Given the description of an element on the screen output the (x, y) to click on. 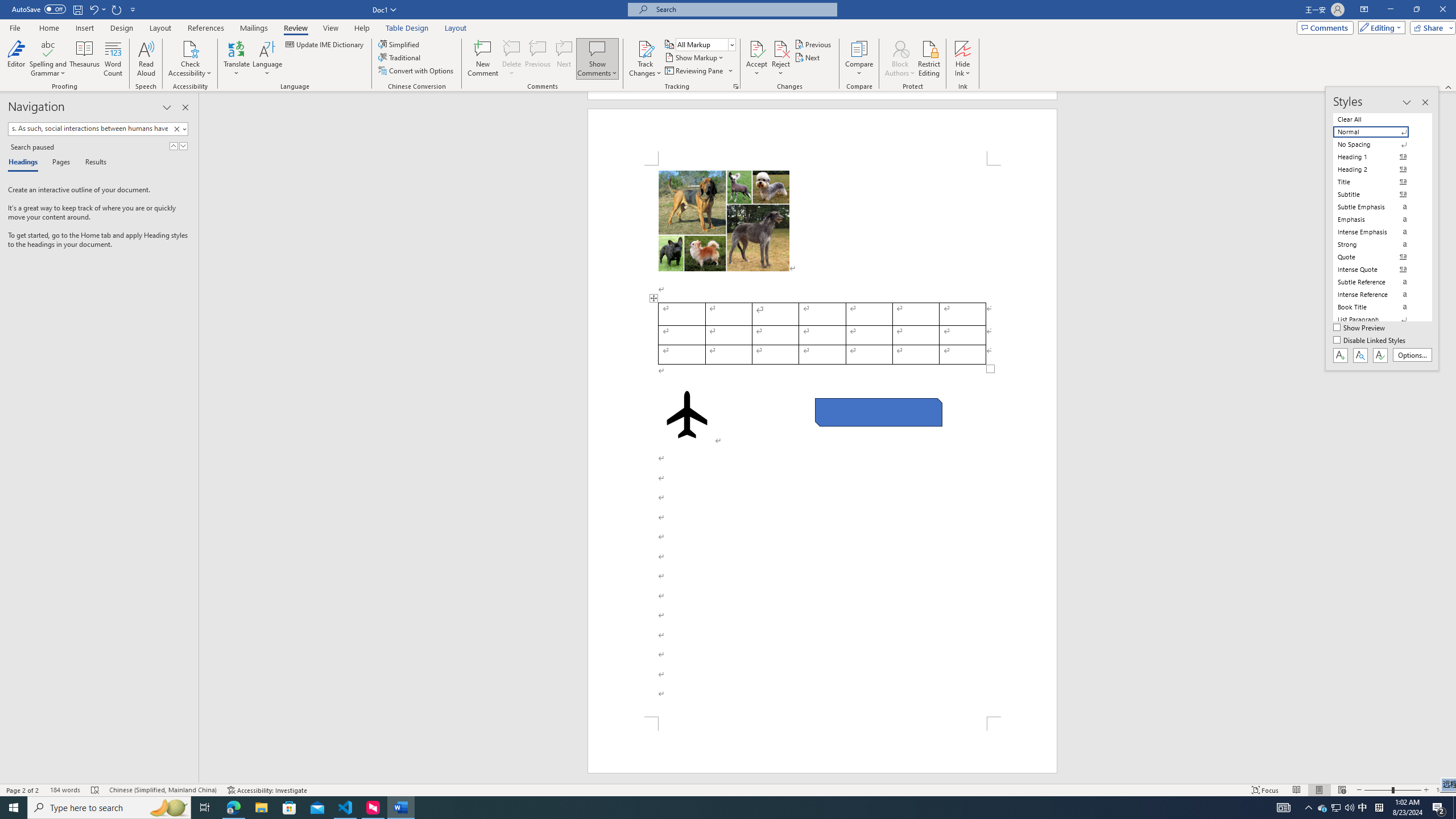
Check Accessibility (189, 48)
Heading 2 (1377, 169)
Hide Ink (962, 58)
Headings (25, 162)
Show Preview (1360, 328)
Clear (178, 128)
Clear All (1377, 119)
Normal (1377, 131)
Intense Reference (1377, 294)
Update IME Dictionary... (324, 44)
Ribbon Display Options (1364, 9)
Convert with Options... (417, 69)
